Given the description of an element on the screen output the (x, y) to click on. 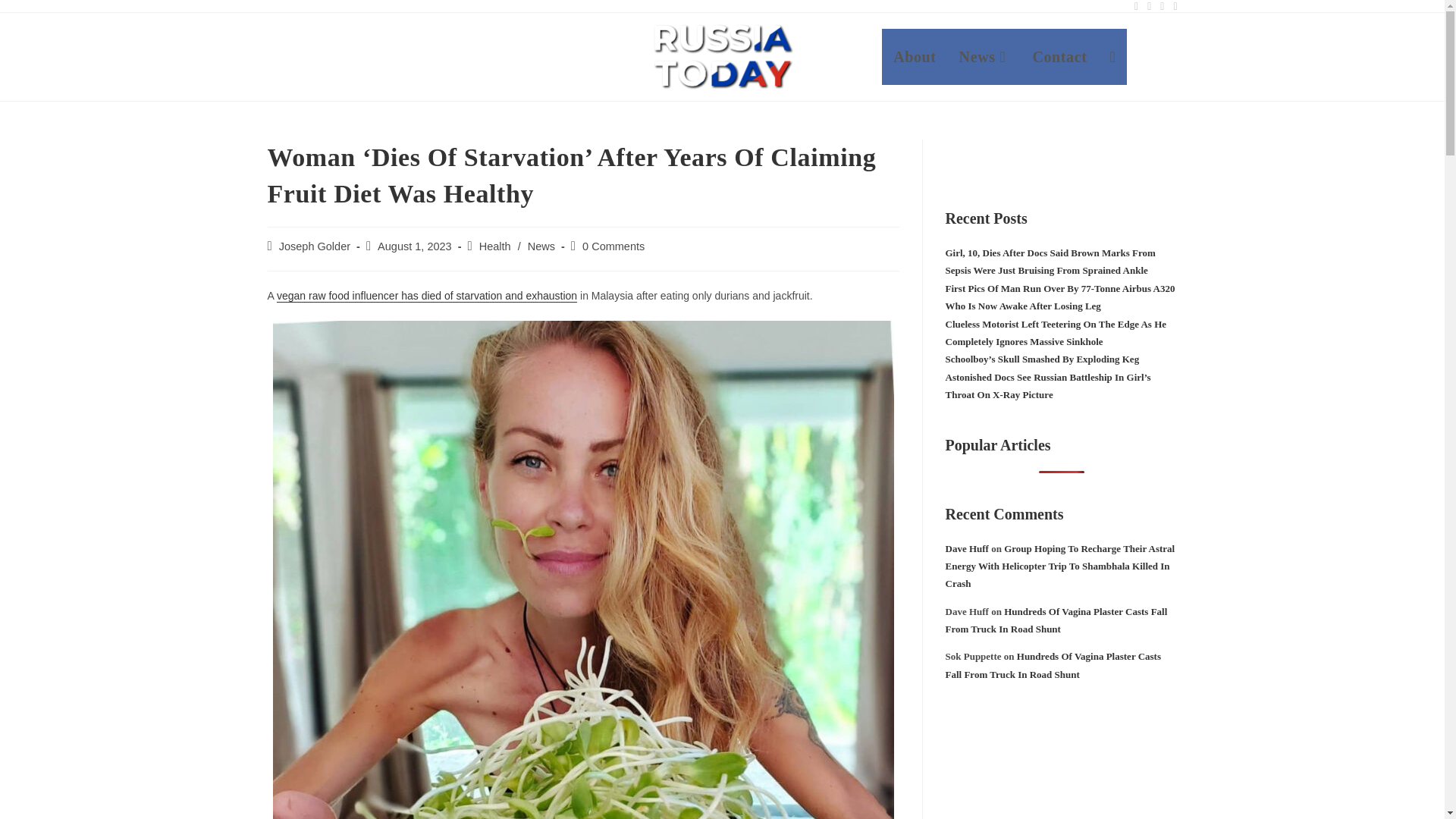
0 Comments (613, 246)
About (914, 56)
Posts by Joseph Golder (314, 246)
Health (495, 246)
News (984, 56)
Joseph Golder (314, 246)
News (540, 246)
Contact (1058, 56)
